Given the description of an element on the screen output the (x, y) to click on. 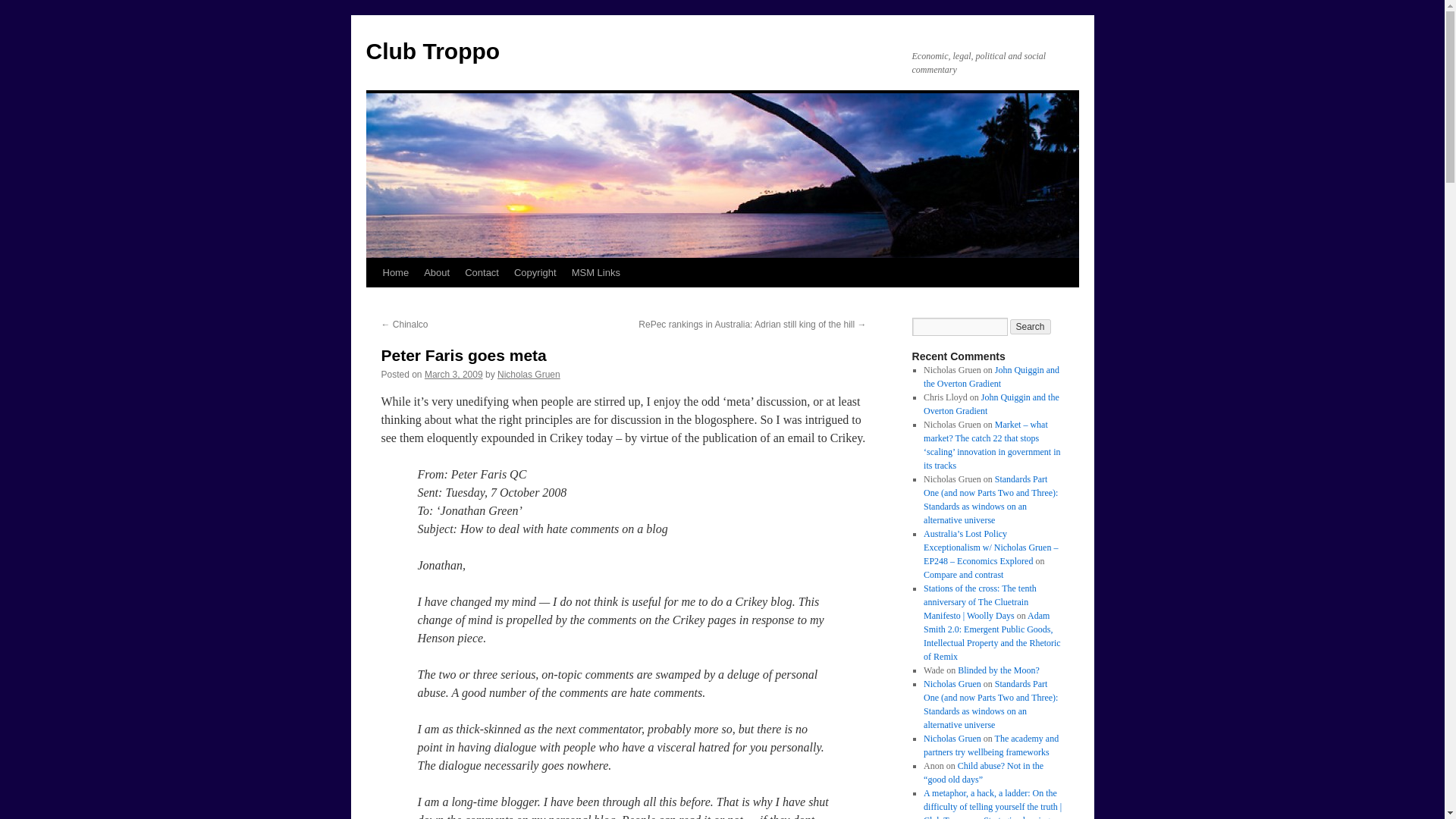
About (436, 272)
Search (1030, 326)
Club Troppo (432, 50)
Copyright (535, 272)
Nicholas Gruen (528, 374)
Contact (481, 272)
6:04 pm (454, 374)
Home (395, 272)
March 3, 2009 (454, 374)
View all posts by Nicholas Gruen (528, 374)
